Given the description of an element on the screen output the (x, y) to click on. 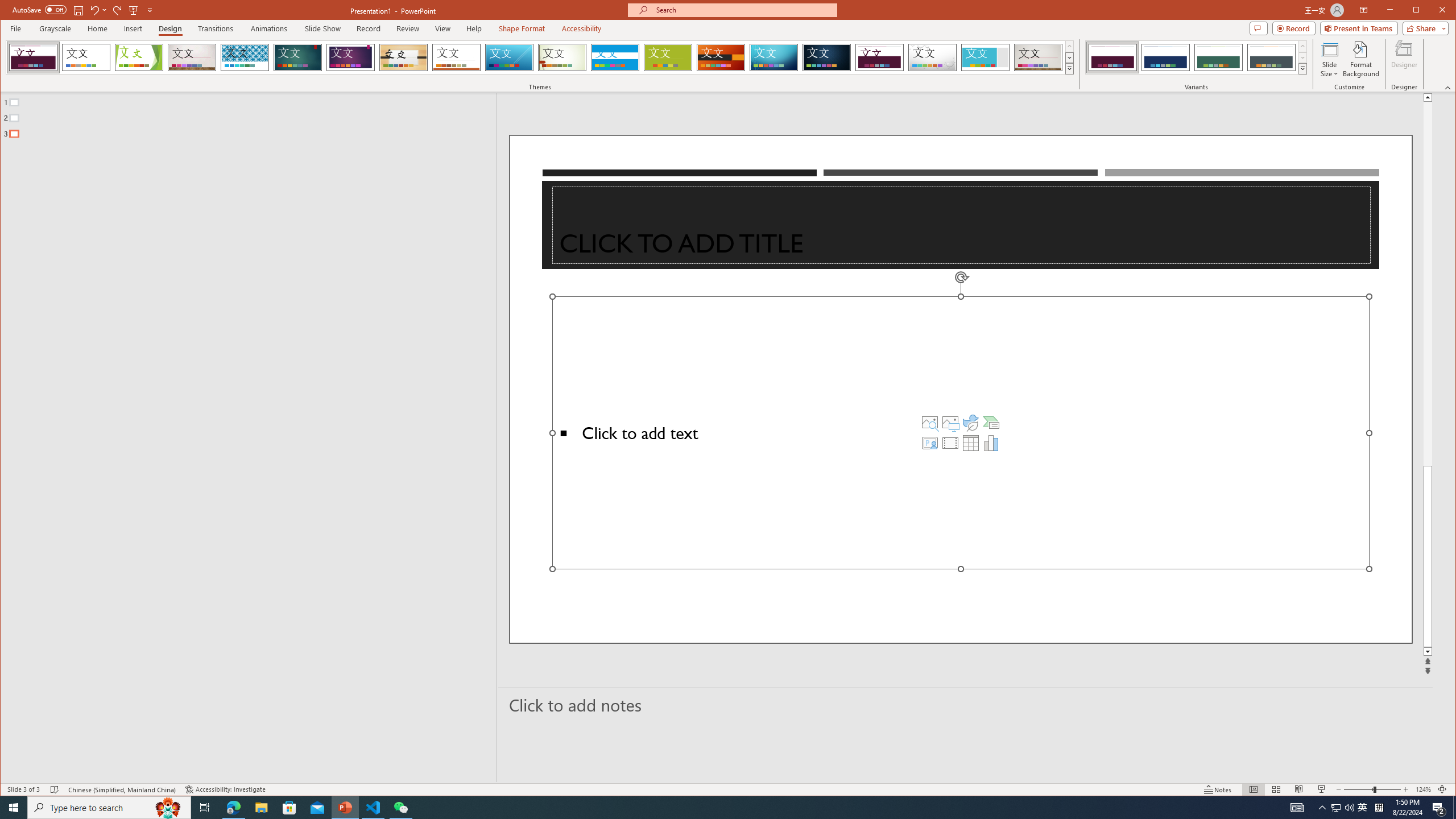
Slice (509, 57)
Stock Images (929, 422)
Insert Chart (991, 443)
Integral (244, 57)
Frame (985, 57)
